Given the description of an element on the screen output the (x, y) to click on. 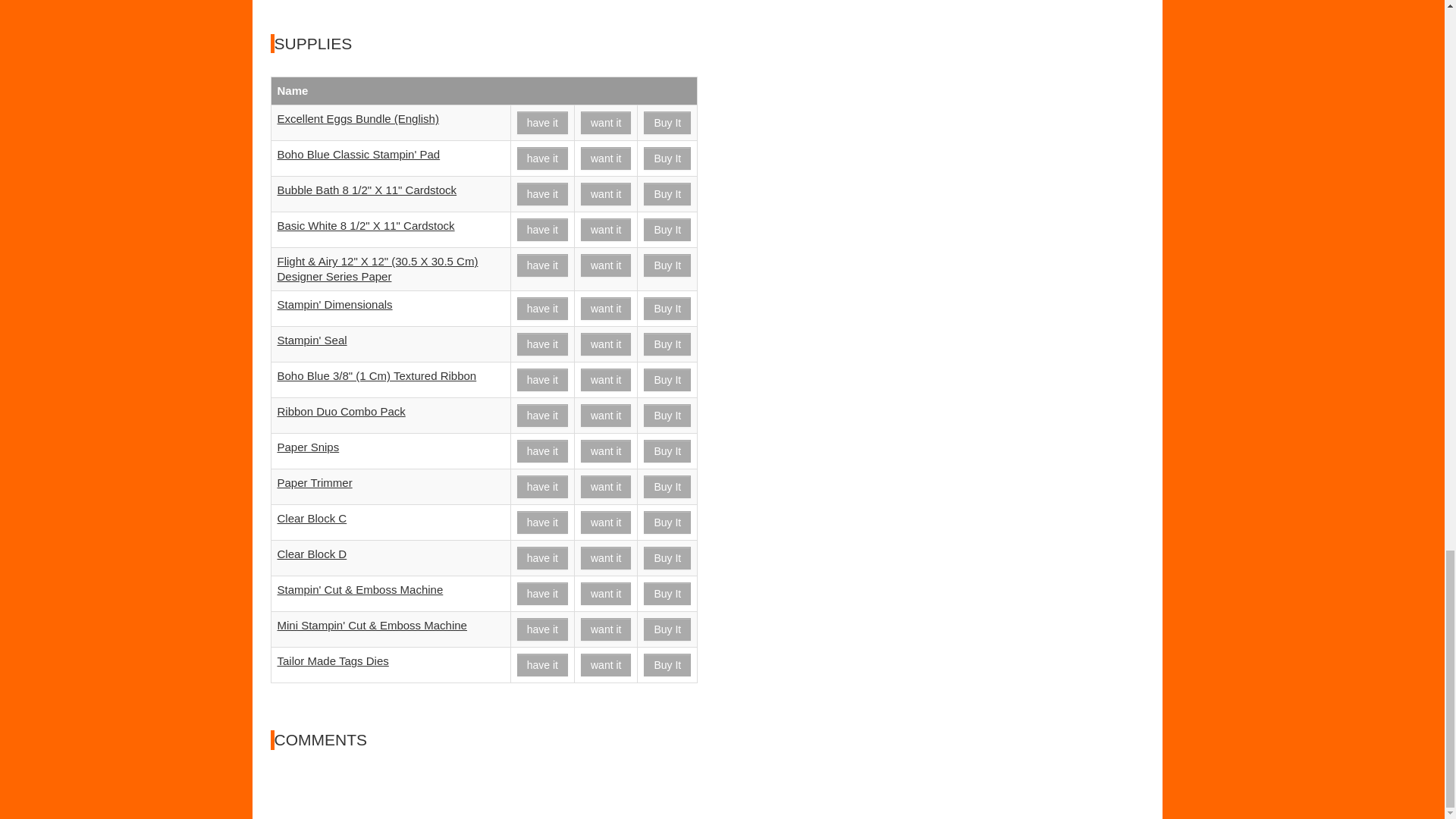
Log in to mark your supplies (541, 229)
Log in to mark the supplies you want (605, 122)
Log in to mark the supplies you want (605, 193)
Log in to mark your supplies (541, 308)
Log in to mark the supplies you want (605, 308)
Log in to mark your supplies (541, 158)
Log in to mark your supplies (541, 193)
Log in to mark the supplies you want (605, 264)
Log in to mark your supplies (541, 122)
Stampin' Dimensionals (666, 308)
Log in to mark your supplies (541, 264)
Boho Blue Classic Stampin' Pad (666, 158)
Log in to mark the supplies you want (605, 158)
Log in to mark the supplies you want (605, 229)
